Given the description of an element on the screen output the (x, y) to click on. 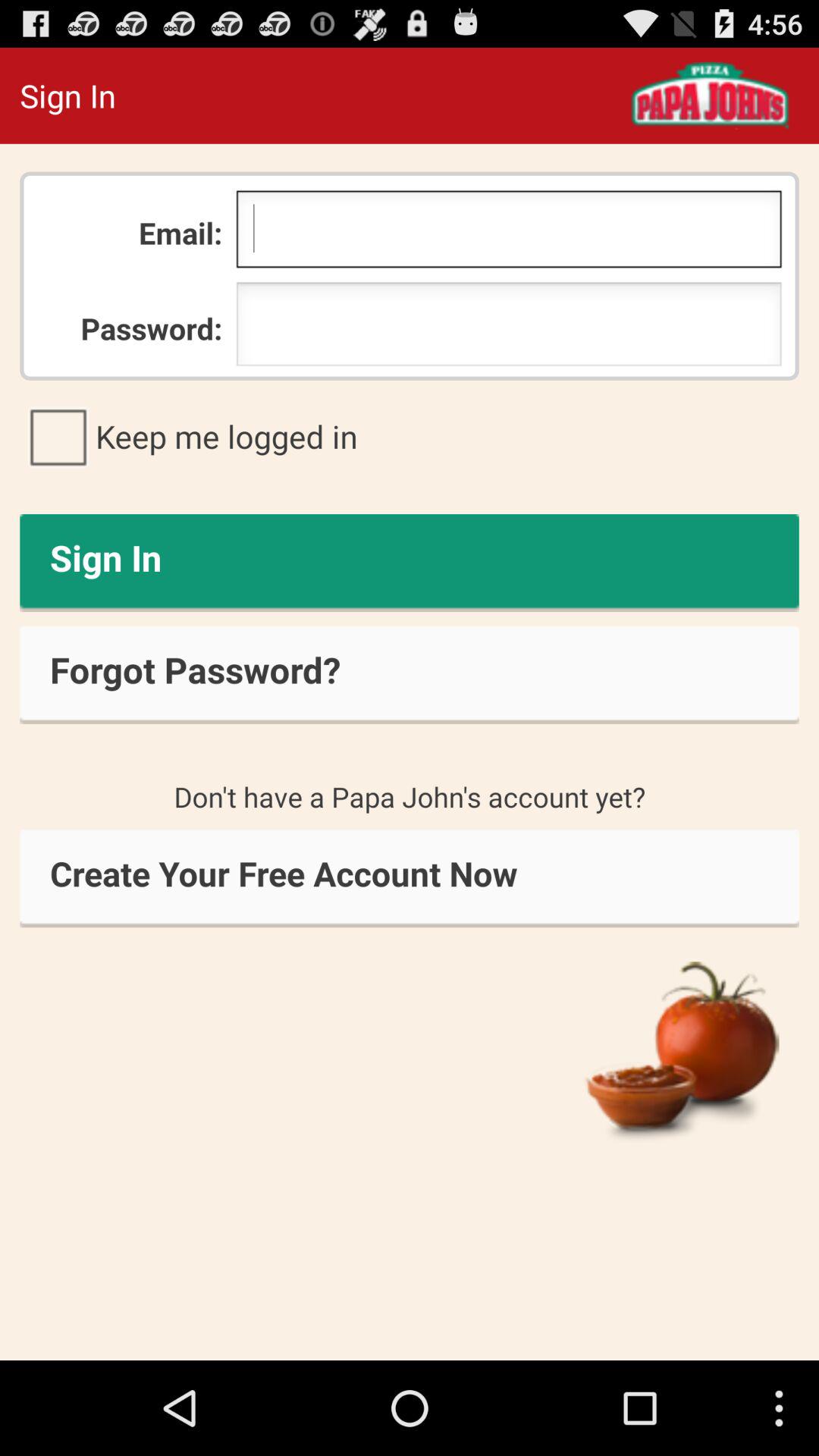
choose the icon above don t have icon (409, 675)
